Given the description of an element on the screen output the (x, y) to click on. 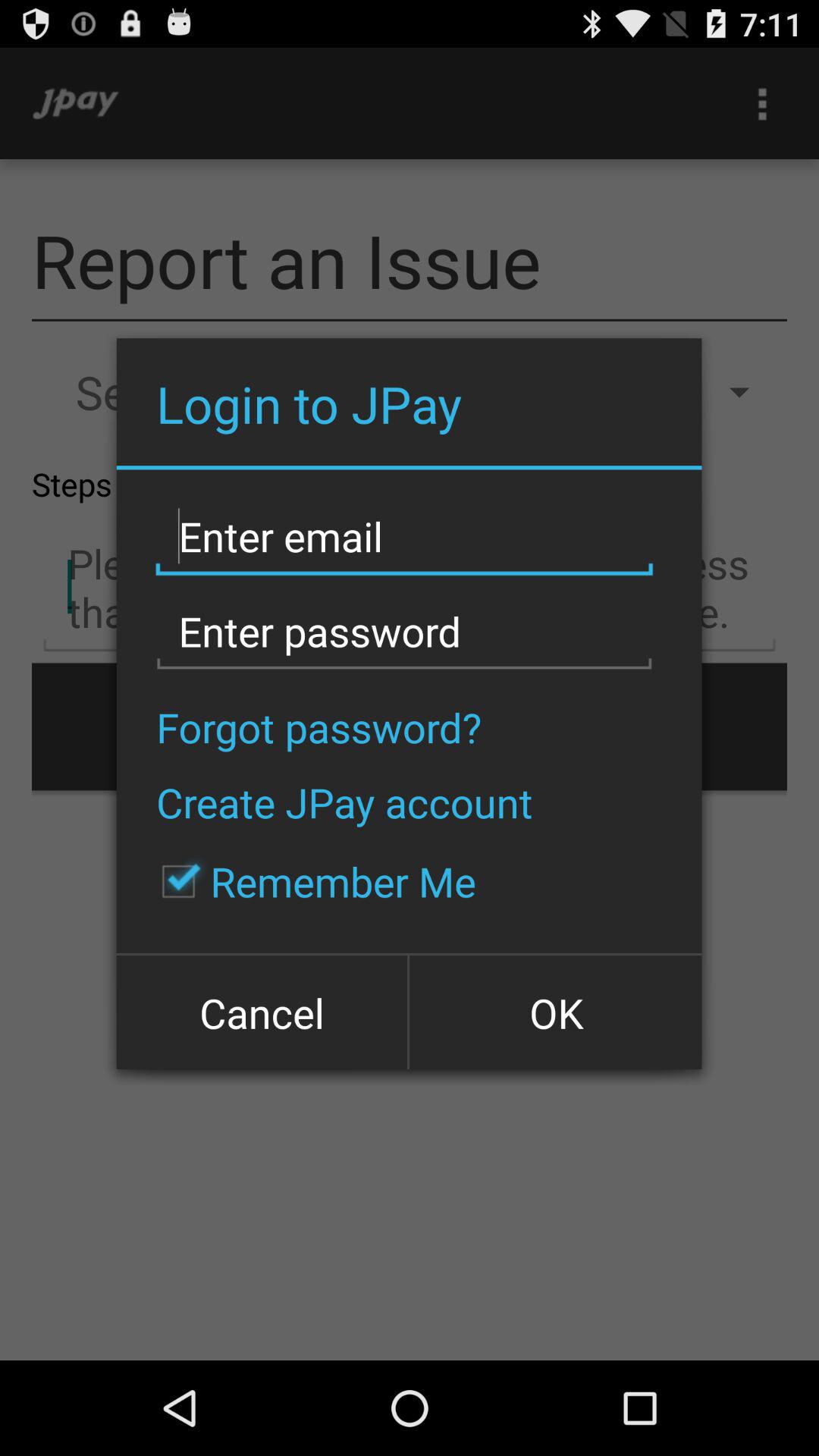
go the enter password (404, 631)
